Given the description of an element on the screen output the (x, y) to click on. 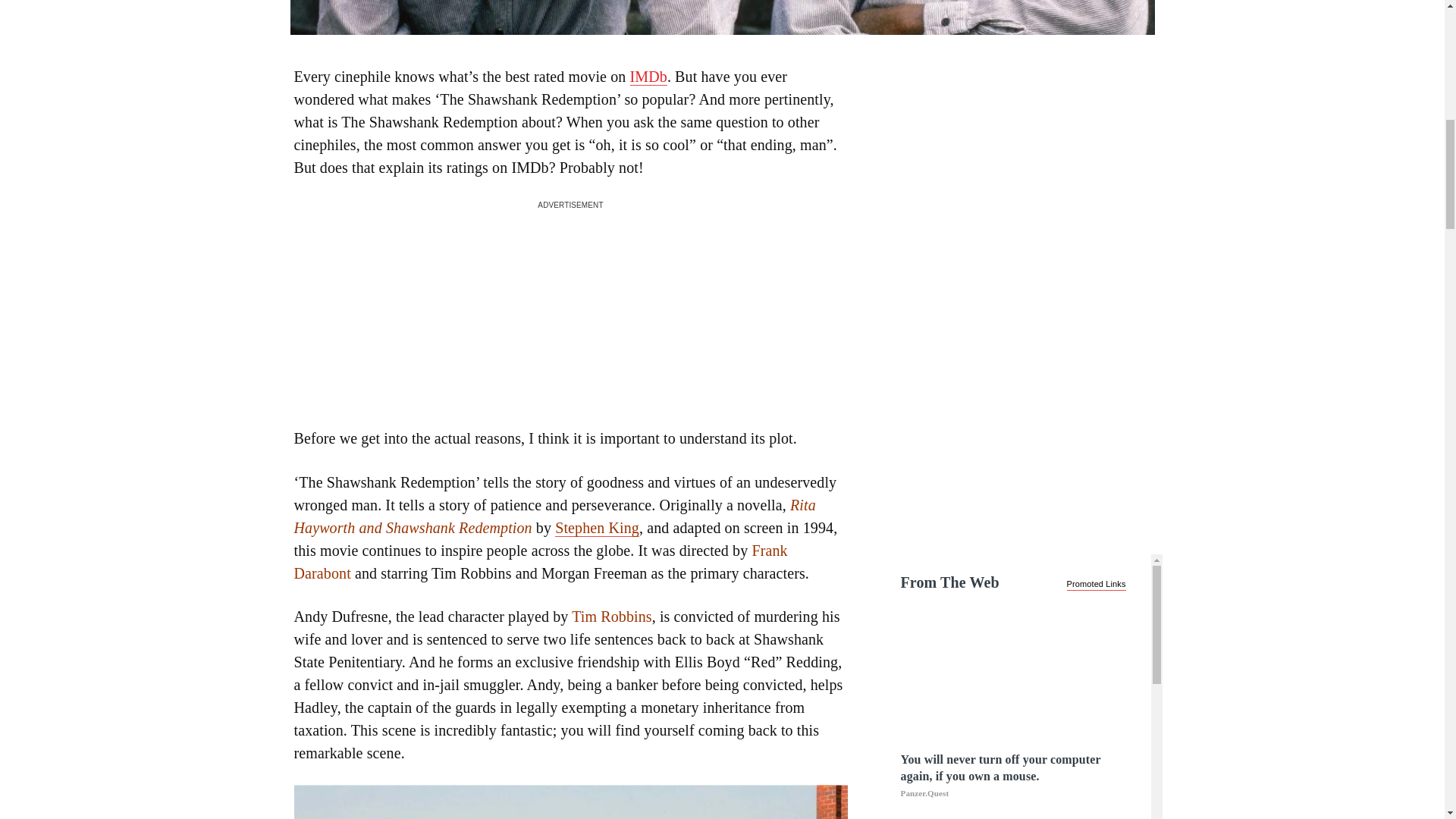
IMDb (648, 76)
Stephen King (596, 528)
